Given the description of an element on the screen output the (x, y) to click on. 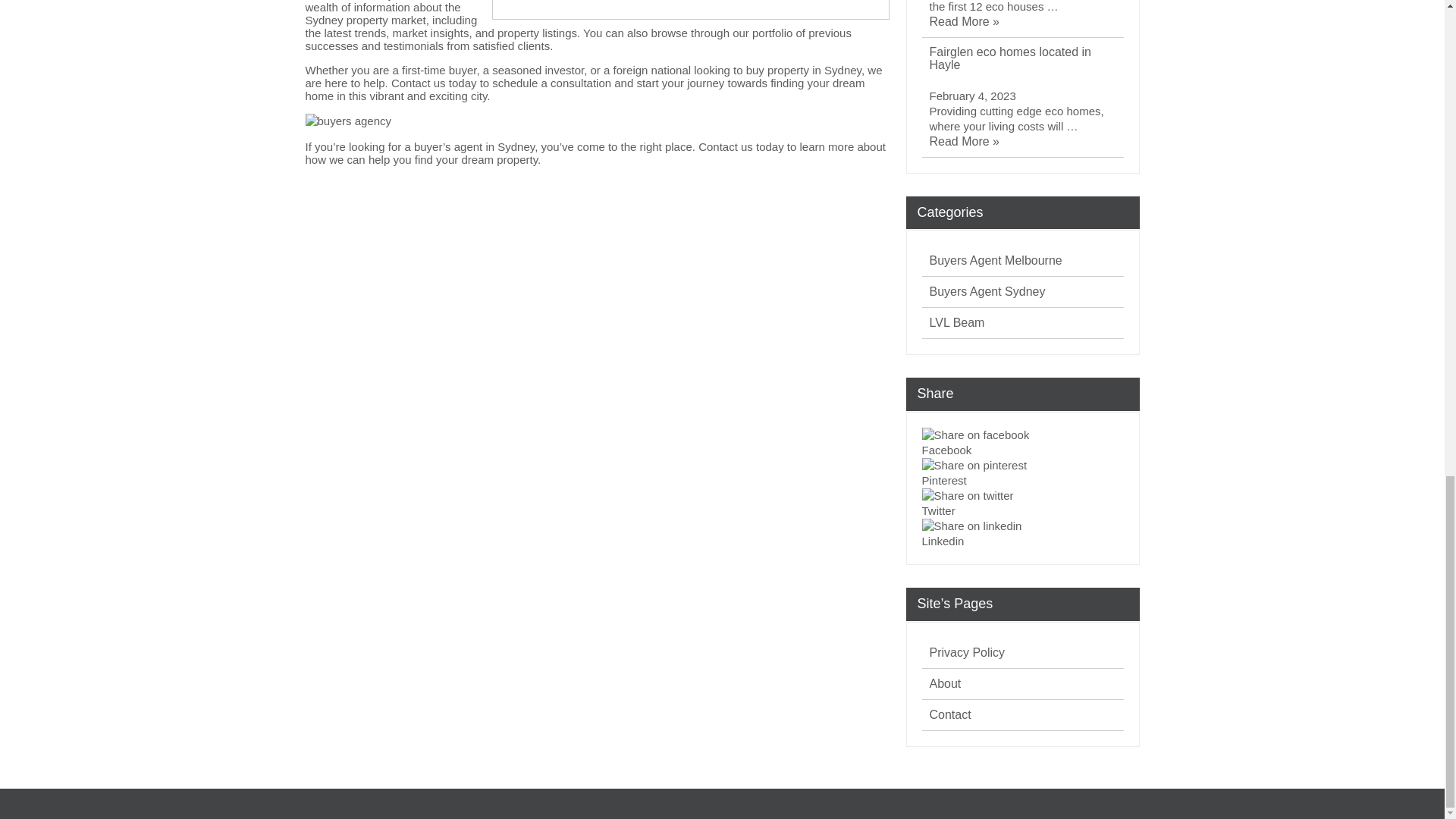
twitter (967, 495)
pinterest (974, 465)
Linkedin (1022, 533)
Linkedin (1022, 540)
Facebook (1022, 450)
linkedin (971, 525)
Buyers Agent Melbourne (996, 260)
Fairglen eco homes located in Hayle (1027, 58)
Pinterest (1022, 480)
LVL Beam (957, 322)
Twitter (1022, 510)
Buyers Agent Sydney (987, 291)
About (945, 683)
Privacy Policy (968, 652)
Facebook (1022, 449)
